Given the description of an element on the screen output the (x, y) to click on. 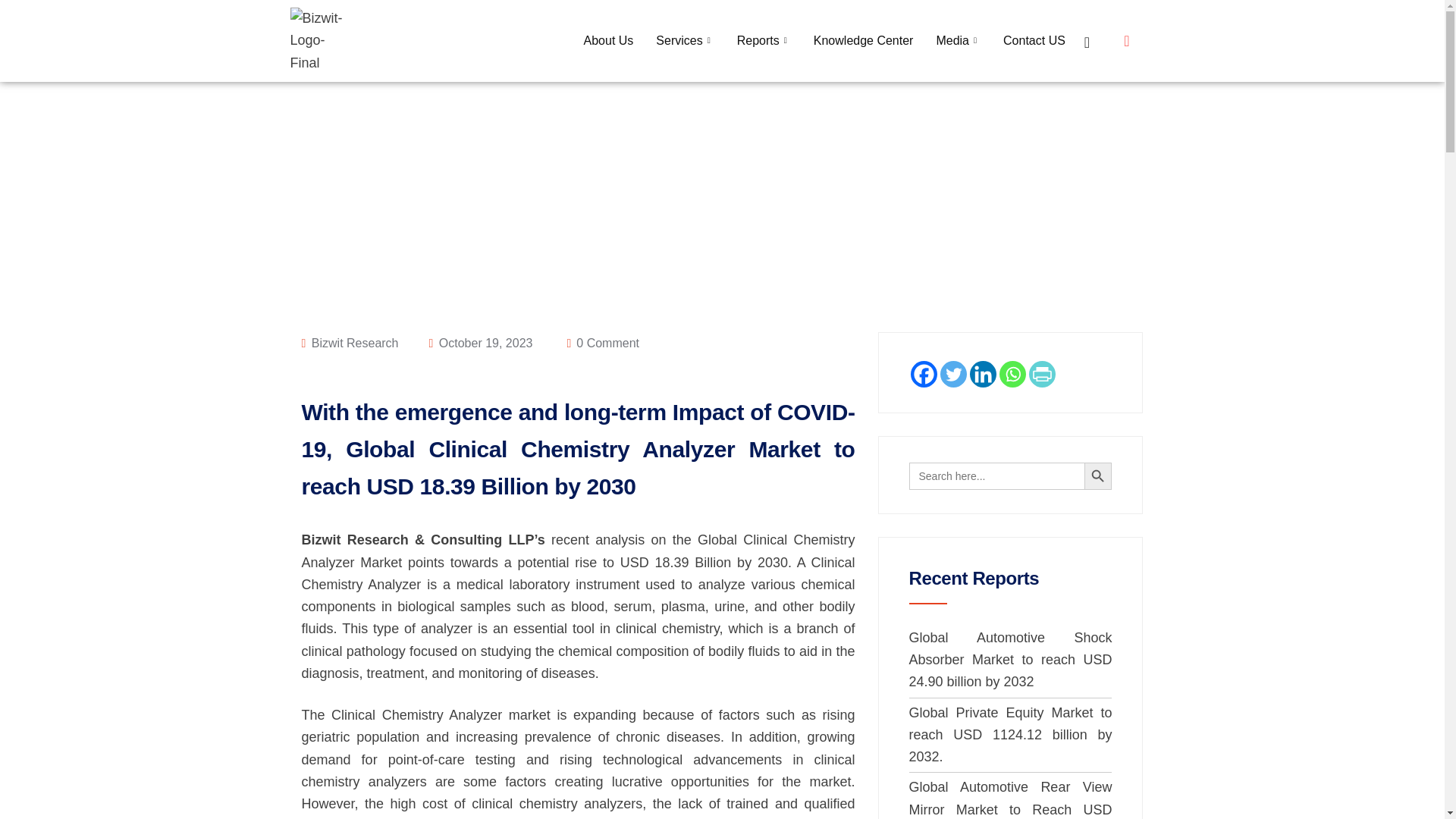
About Us (608, 40)
Facebook (923, 374)
Reports (763, 40)
PrintFriendly (1040, 374)
Linkedin (982, 374)
Bizwit-Logo-Final (320, 40)
Services (685, 40)
Twitter (953, 374)
Whatsapp (1012, 374)
